Given the description of an element on the screen output the (x, y) to click on. 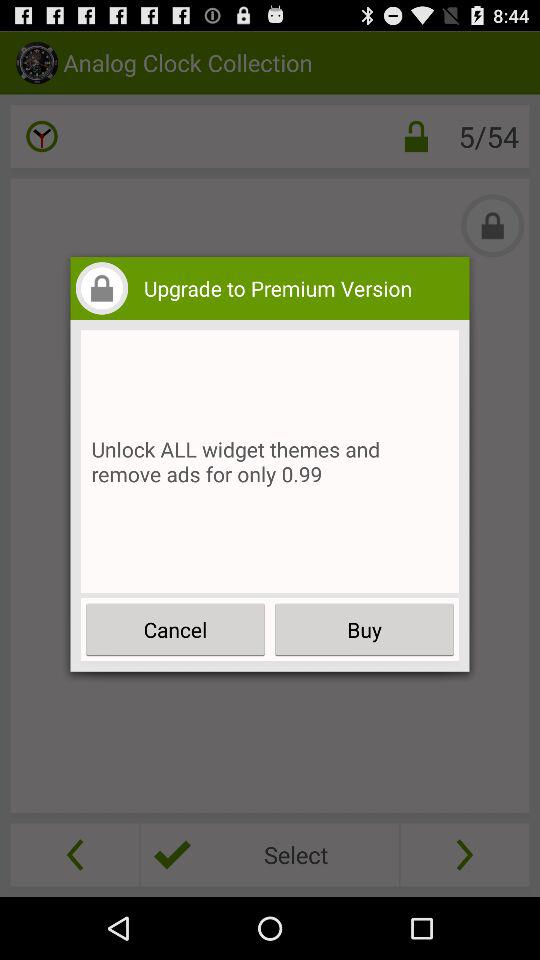
choose the item next to buy item (175, 629)
